Given the description of an element on the screen output the (x, y) to click on. 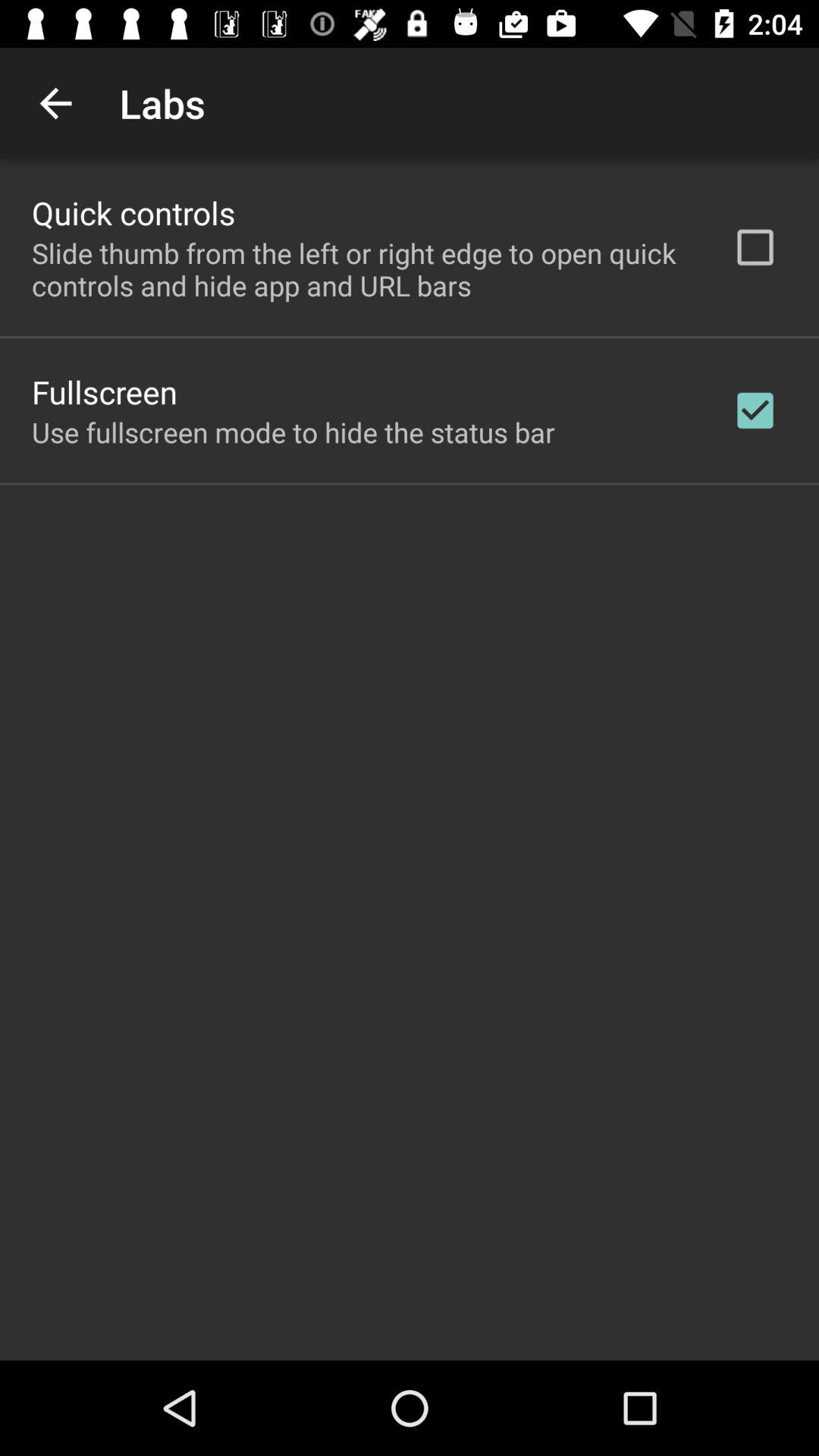
choose item above quick controls icon (55, 103)
